Given the description of an element on the screen output the (x, y) to click on. 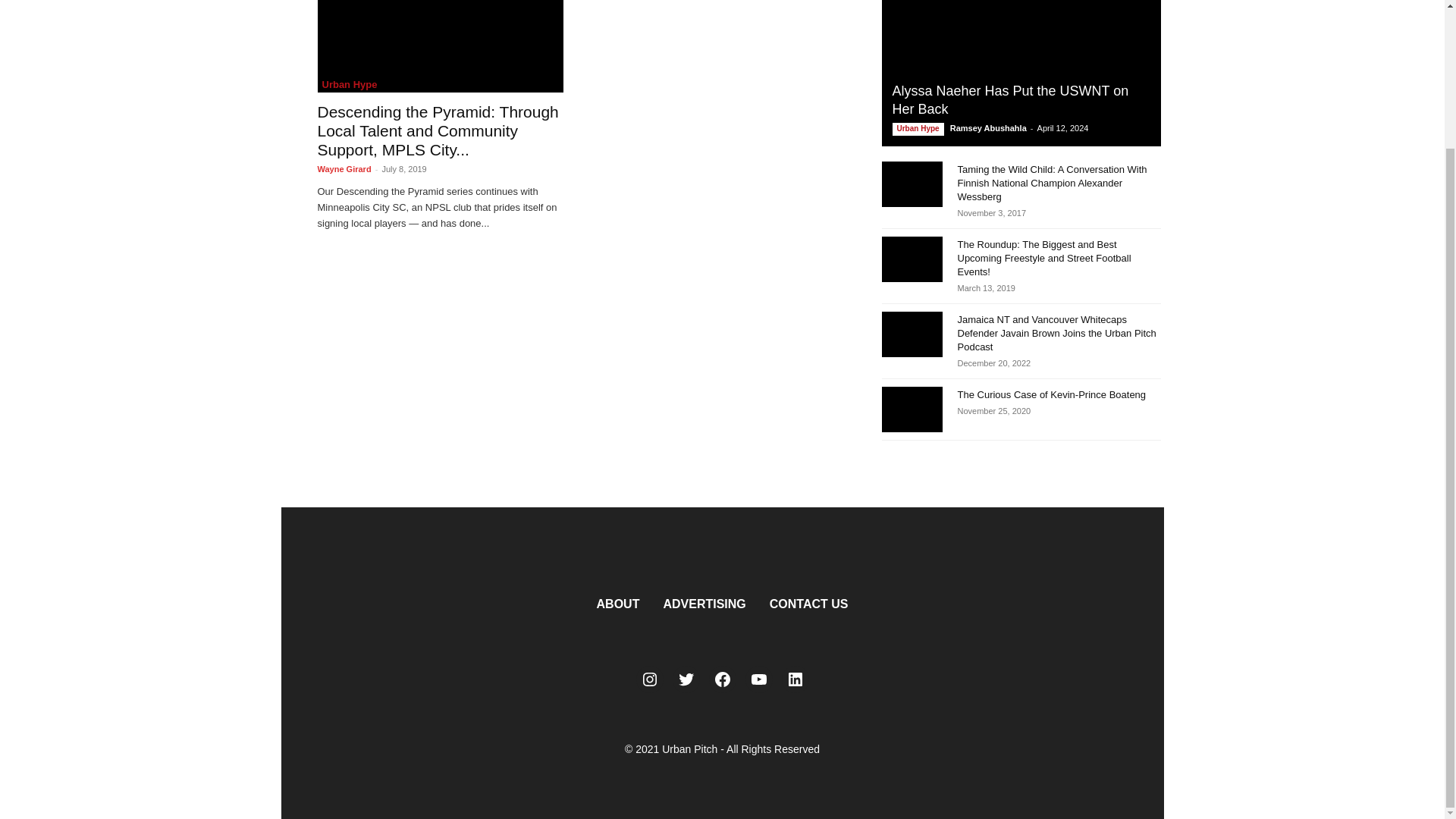
Alyssa Naeher Has Put the USWNT on Her Back (1009, 100)
Alyssa Naeher Has Put the USWNT on Her Back (1020, 73)
Wayne Girard (344, 168)
Urban Hype (917, 128)
Ramsey Abushahla (988, 127)
